Given the description of an element on the screen output the (x, y) to click on. 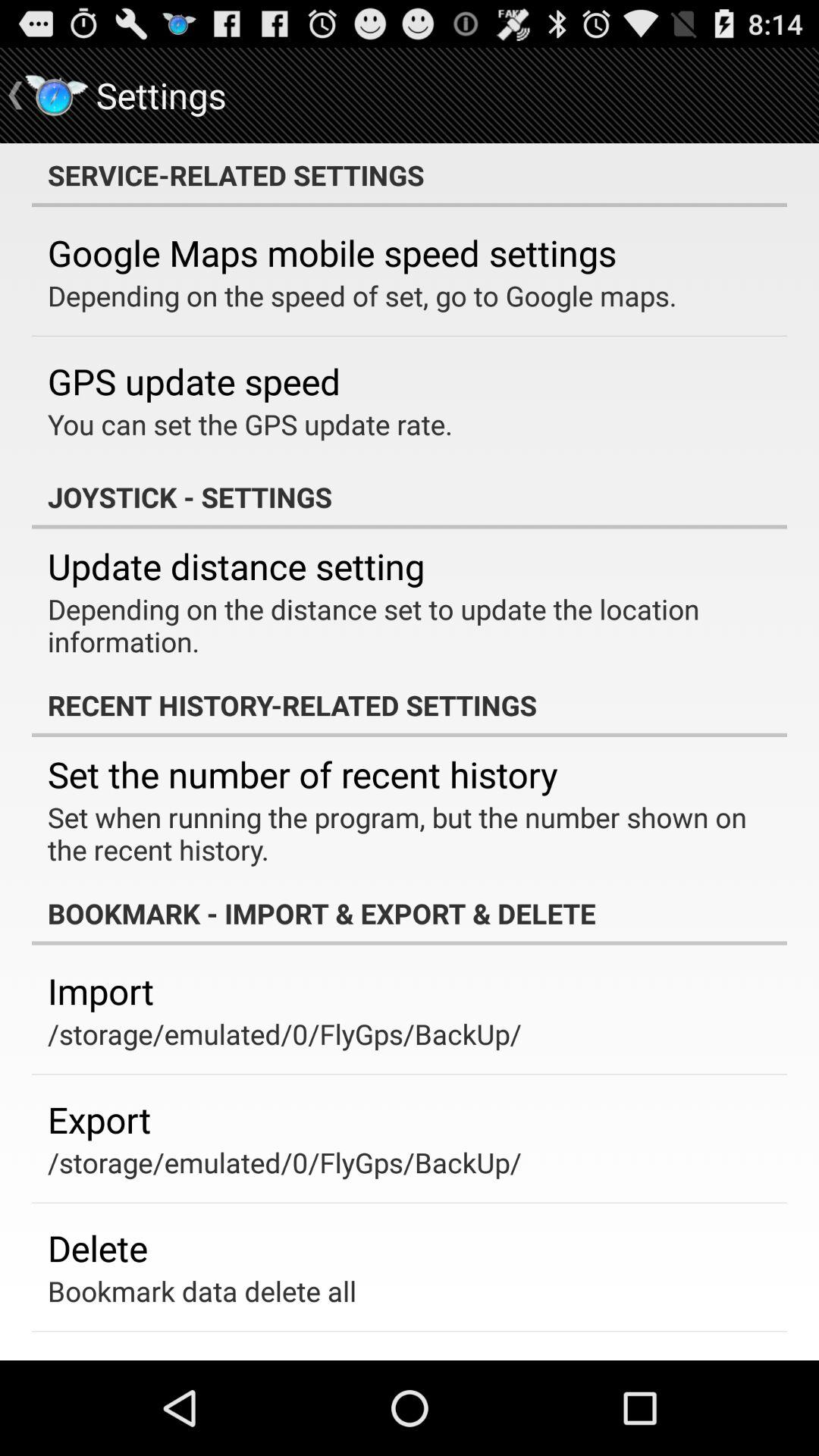
press set when running item (399, 833)
